Given the description of an element on the screen output the (x, y) to click on. 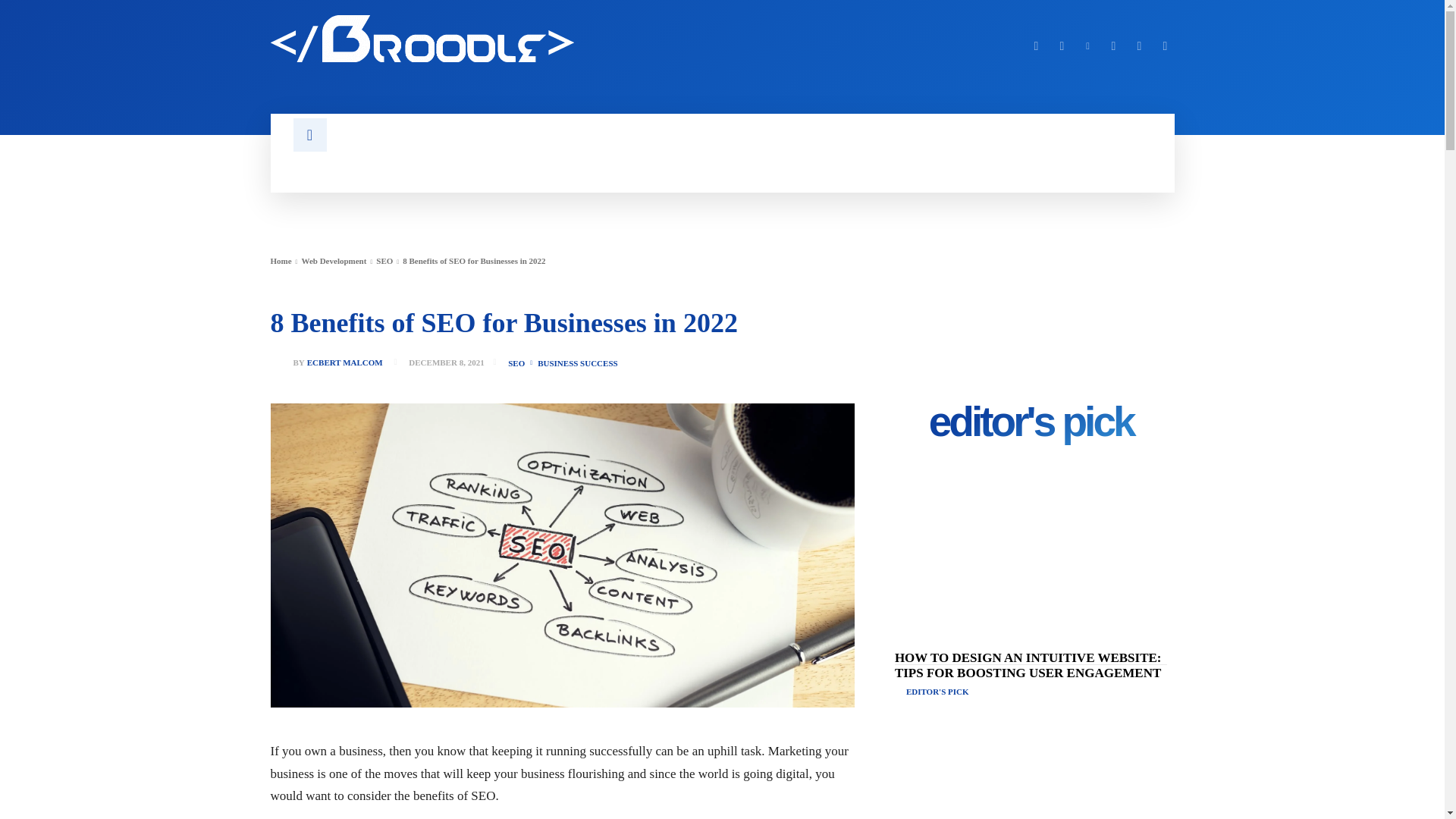
Linkedin (1087, 45)
Twitter (1138, 45)
Broodle (421, 38)
Youtube (1164, 45)
Broodle (486, 38)
Tumblr (1112, 45)
Facebook (1035, 45)
Instagram (1061, 45)
